Given the description of an element on the screen output the (x, y) to click on. 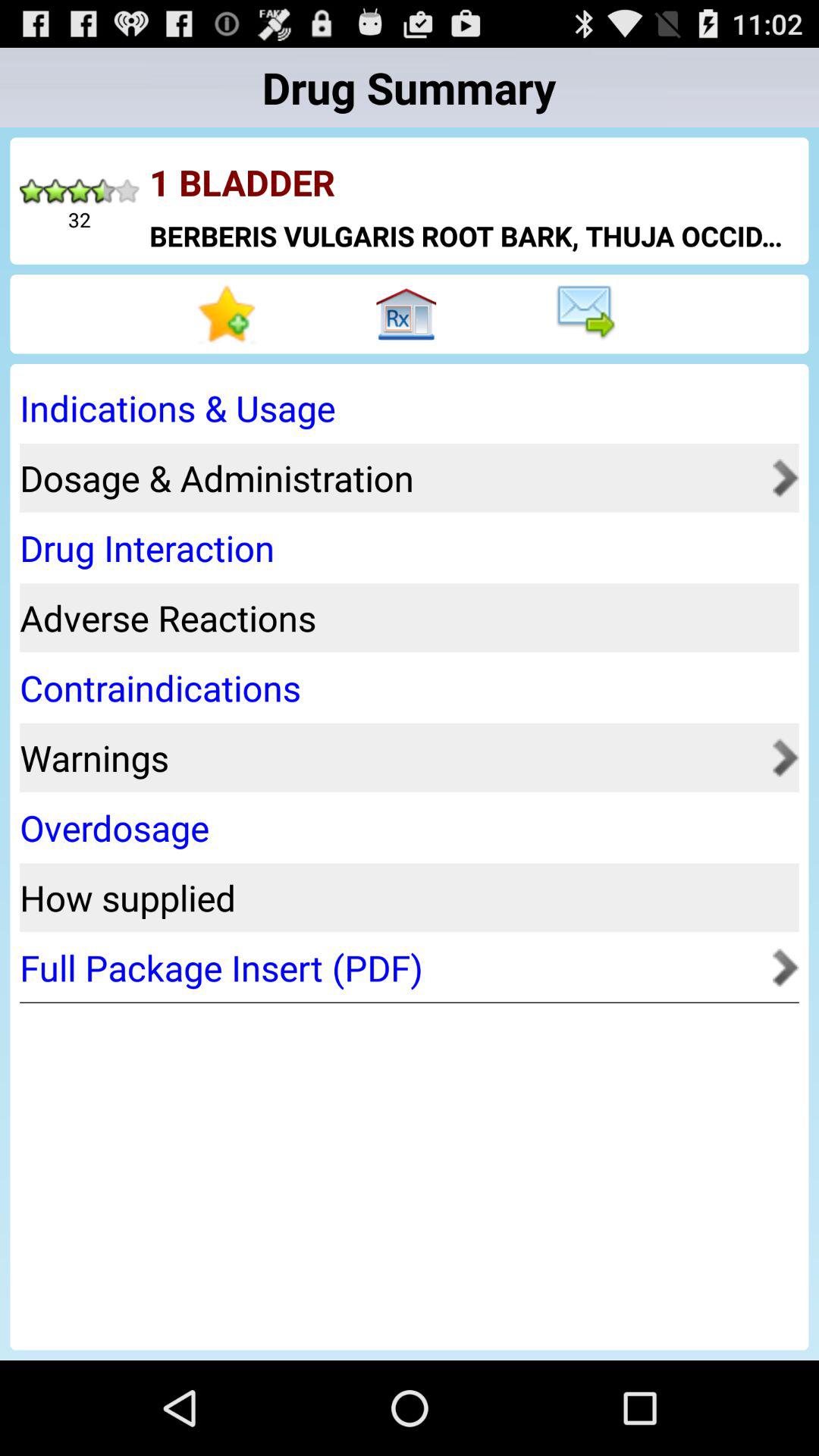
turn on the app below berberis vulgaris root item (229, 314)
